Given the description of an element on the screen output the (x, y) to click on. 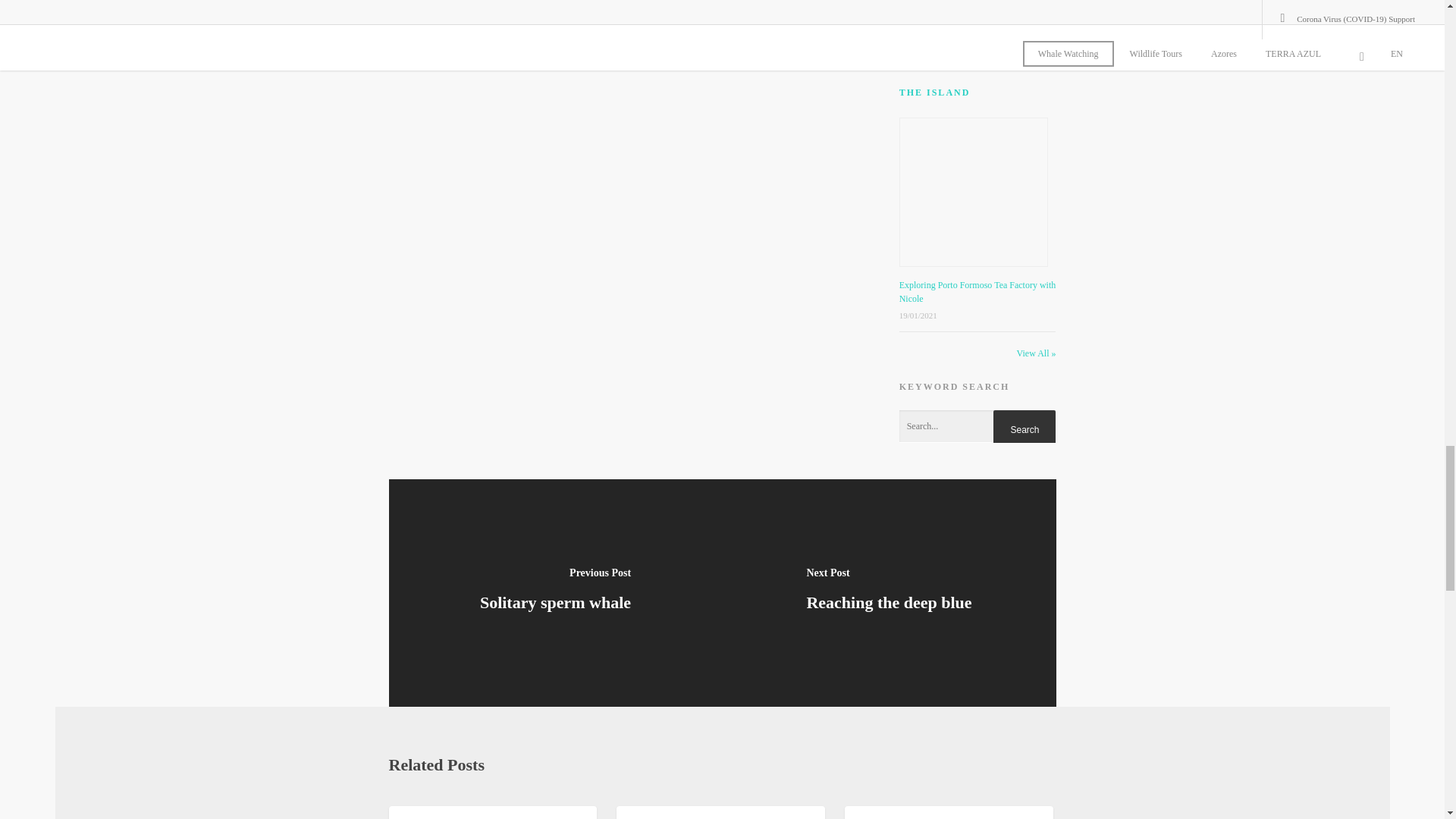
Search (1023, 429)
Search (1023, 429)
